Given the description of an element on the screen output the (x, y) to click on. 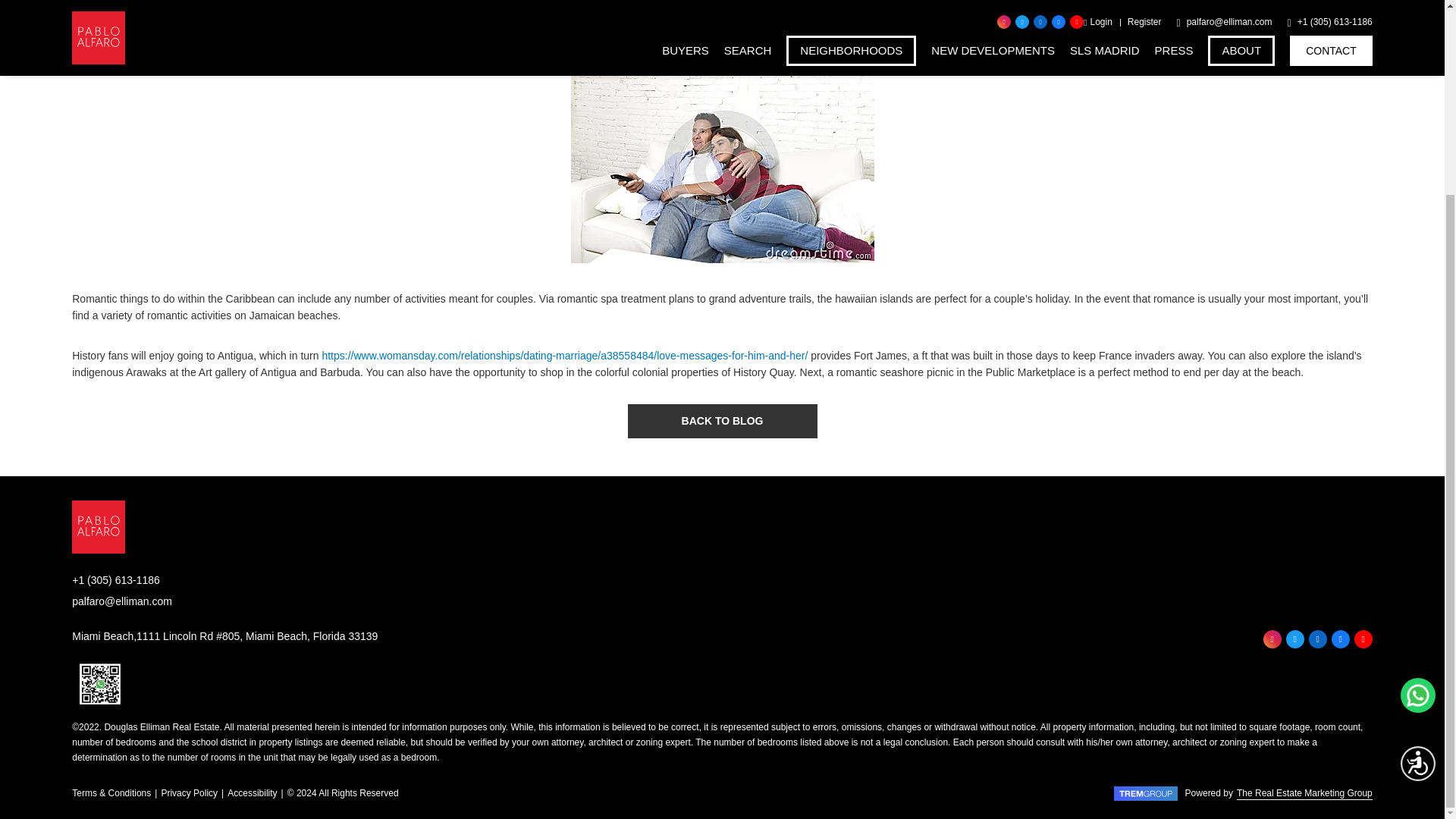
Facebook (1340, 638)
Linked In (1317, 638)
Twitter (1294, 638)
Youtube (1363, 638)
The Real Estate Marketing Group (1145, 793)
Instagram (1272, 638)
